Given the description of an element on the screen output the (x, y) to click on. 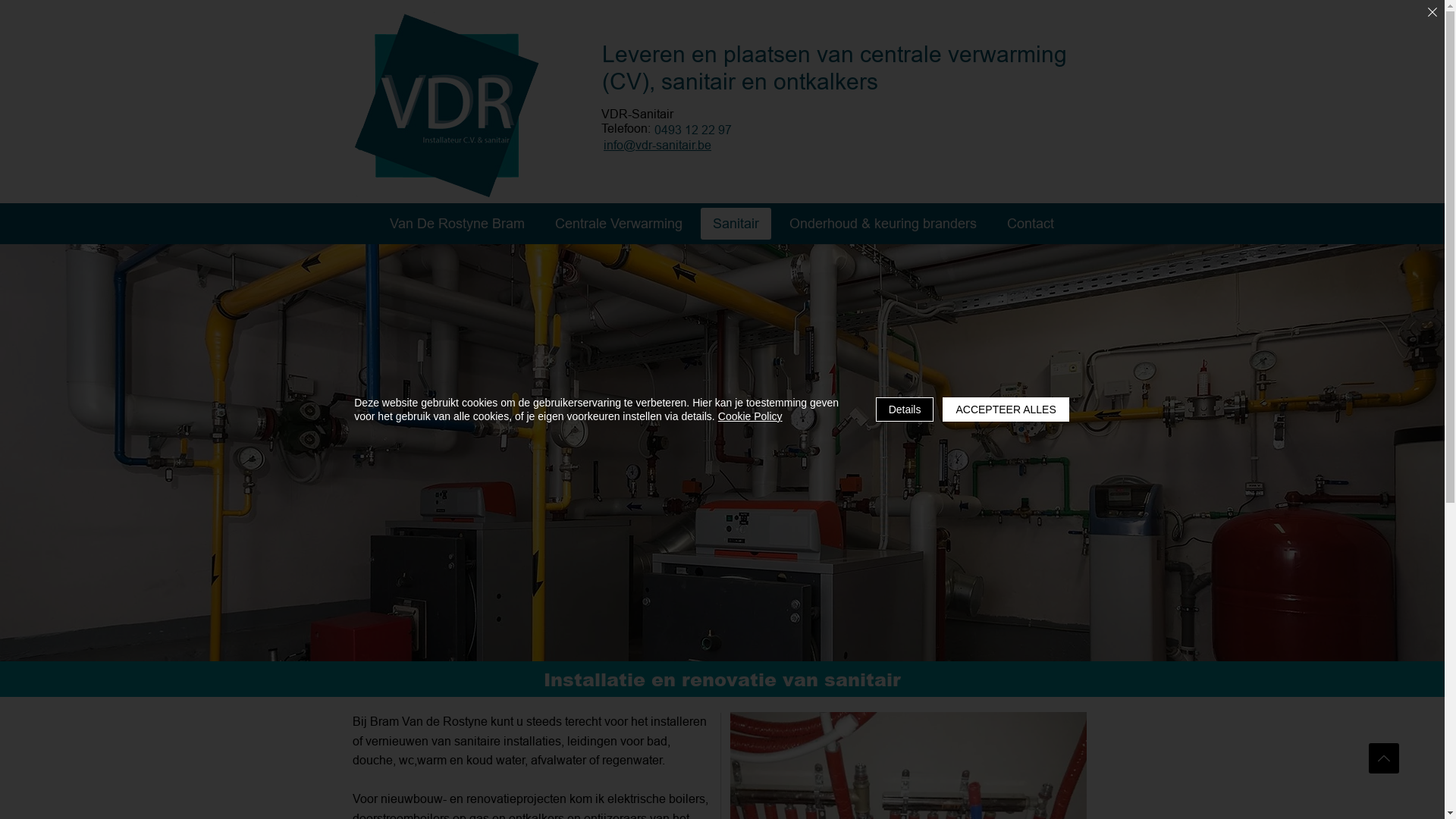
Centrale Verwarming Element type: text (618, 223)
Contact Element type: text (1030, 223)
Details Element type: text (904, 409)
Sanitair Element type: text (735, 223)
0493 12 22 97 Element type: text (694, 129)
Cookie Policy Element type: text (750, 416)
ACCEPTEER ALLES Element type: text (1005, 409)
Van De Rostyne Bram Element type: text (456, 223)
info@vdr-sanitair.be Element type: text (659, 144)
Onderhoud & keuring branders Element type: text (882, 223)
